Given the description of an element on the screen output the (x, y) to click on. 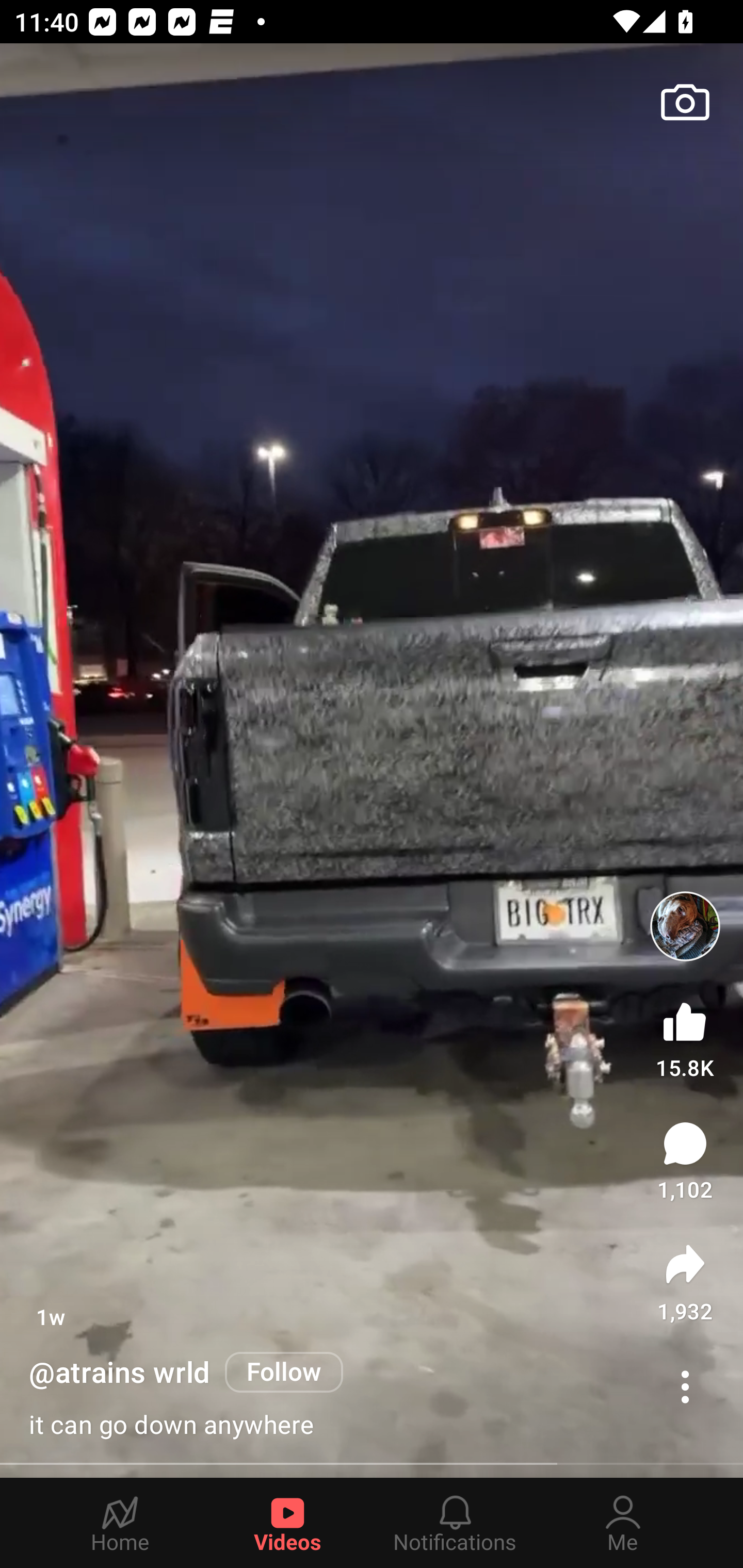
15.8K (684, 1035)
1,102 (685, 1160)
1,932 (685, 1282)
Follow (284, 1371)
@atrains wrld (119, 1373)
Home (119, 1522)
Notifications (455, 1522)
Me (622, 1522)
